Given the description of an element on the screen output the (x, y) to click on. 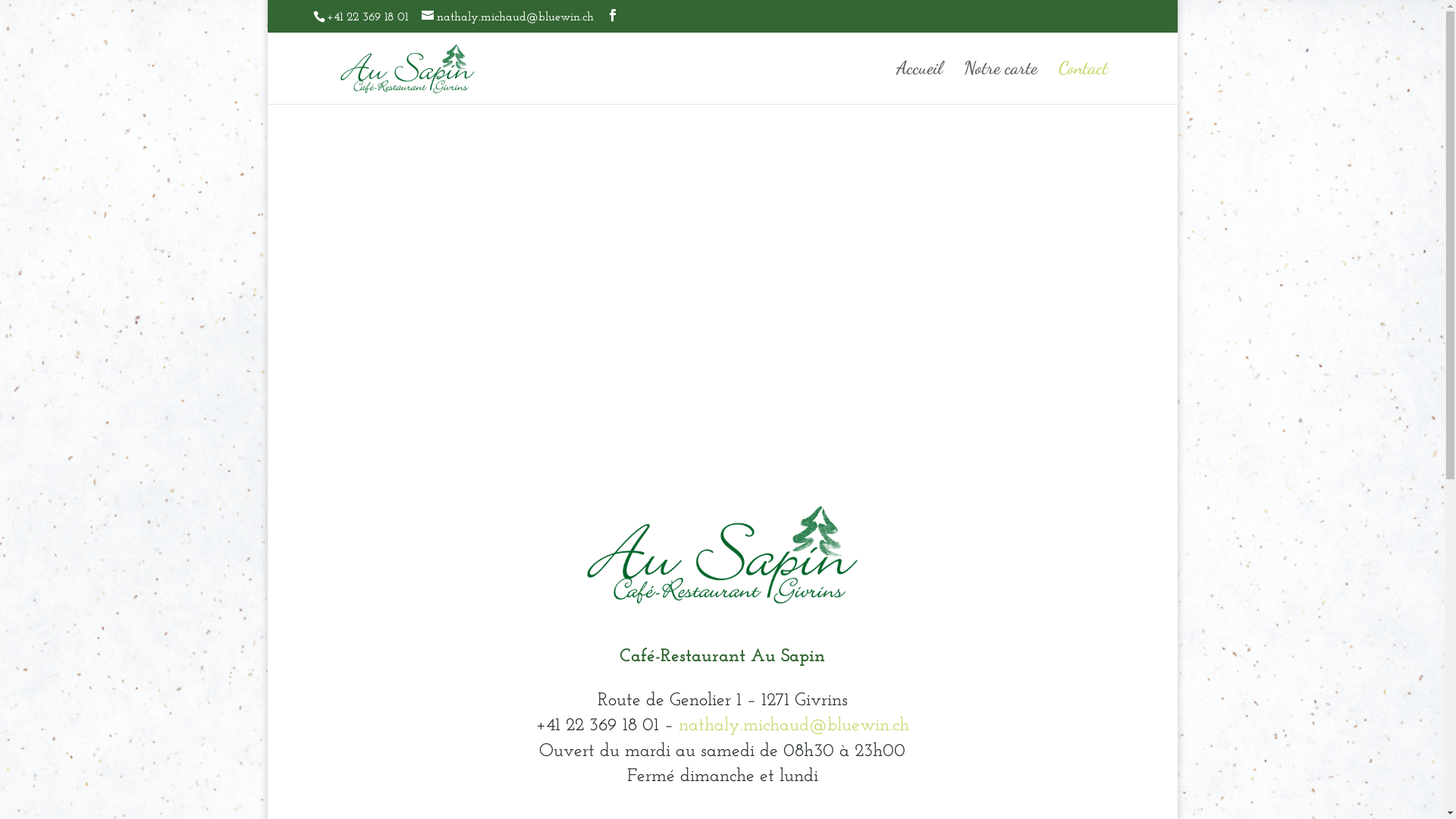
Contact Element type: text (1082, 82)
nathaly.michaud@bluewin.ch Element type: text (507, 17)
Accueil Element type: text (919, 82)
nathaly.michaud@bluewin.ch Element type: text (792, 725)
Notre carte Element type: text (999, 82)
